Given the description of an element on the screen output the (x, y) to click on. 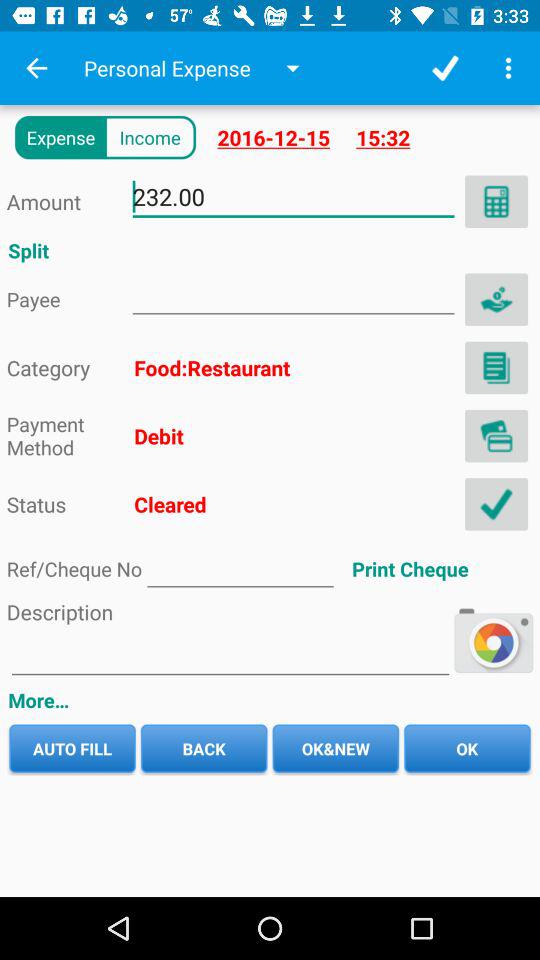
address page (240, 567)
